Given the description of an element on the screen output the (x, y) to click on. 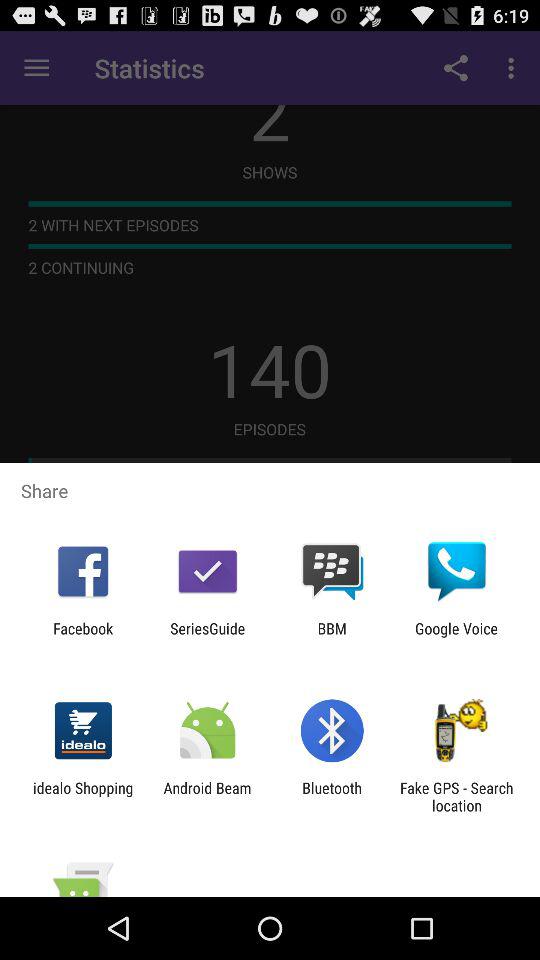
scroll until android beam (207, 796)
